Given the description of an element on the screen output the (x, y) to click on. 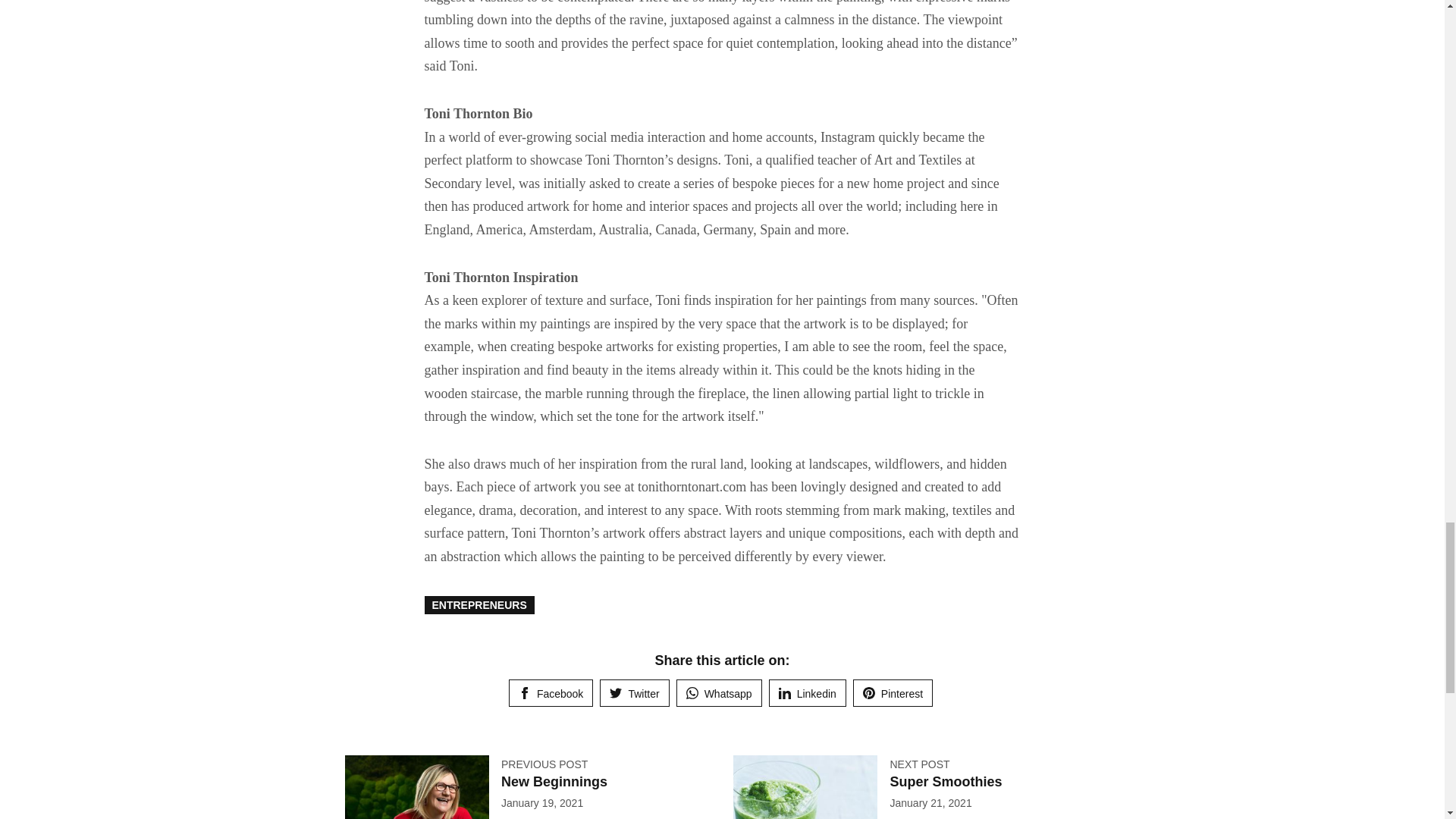
Share on Whatsapp (719, 692)
ENTREPRENEURS (479, 605)
Share on Twitter (633, 692)
Twitter (633, 692)
21 January, 2021 (930, 802)
NEXT POST (919, 764)
Pinterest (893, 692)
Share on Facebook (550, 692)
Super Smoothies (945, 781)
19 January, 2021 (541, 802)
